Given the description of an element on the screen output the (x, y) to click on. 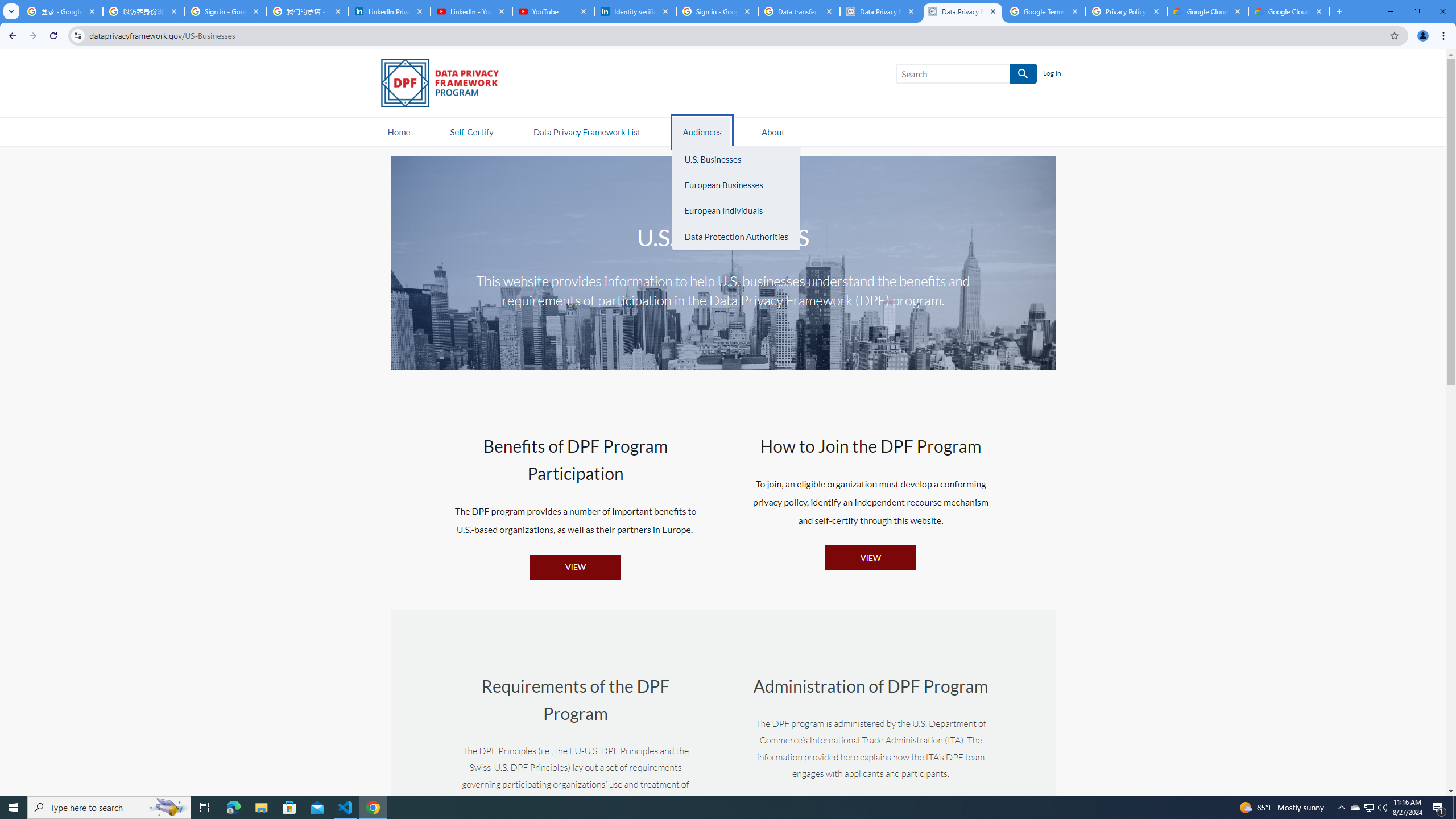
Self-Certify (471, 131)
European Businesses (735, 184)
